Given the description of an element on the screen output the (x, y) to click on. 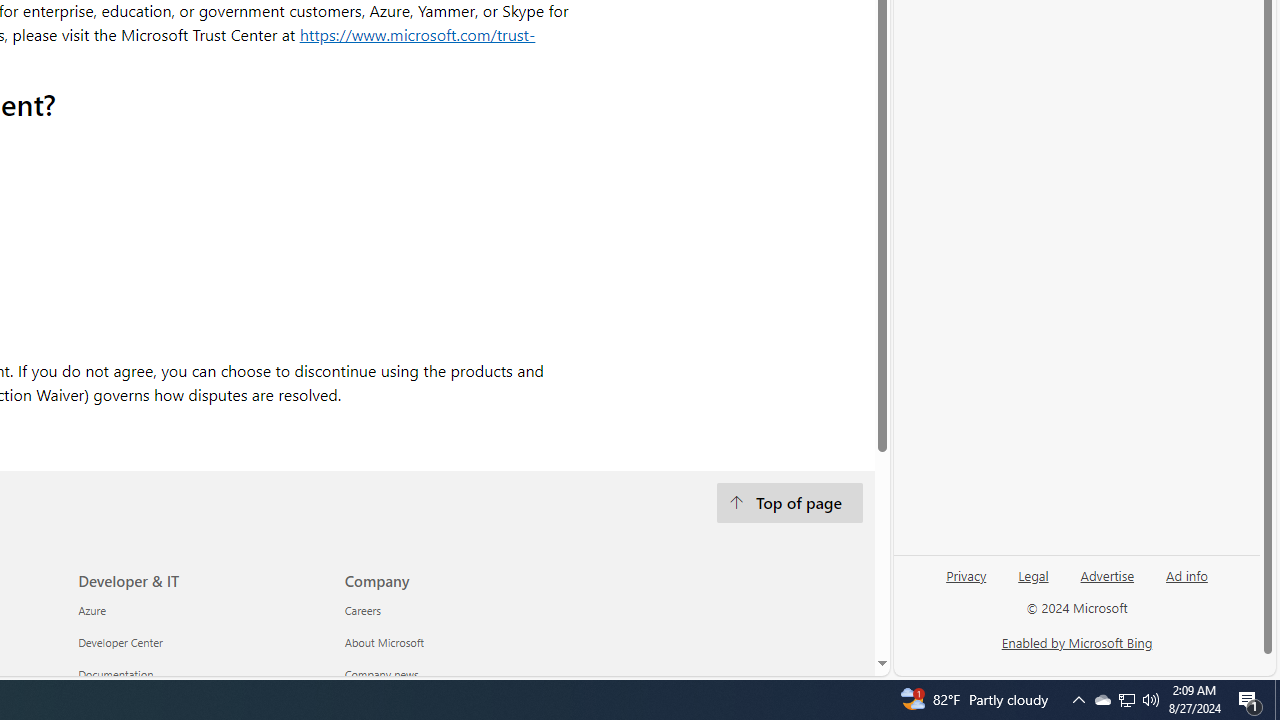
Careers (465, 610)
Top of page (788, 503)
Azure (199, 610)
Company news (465, 674)
Documentation Developer & IT (115, 674)
